Given the description of an element on the screen output the (x, y) to click on. 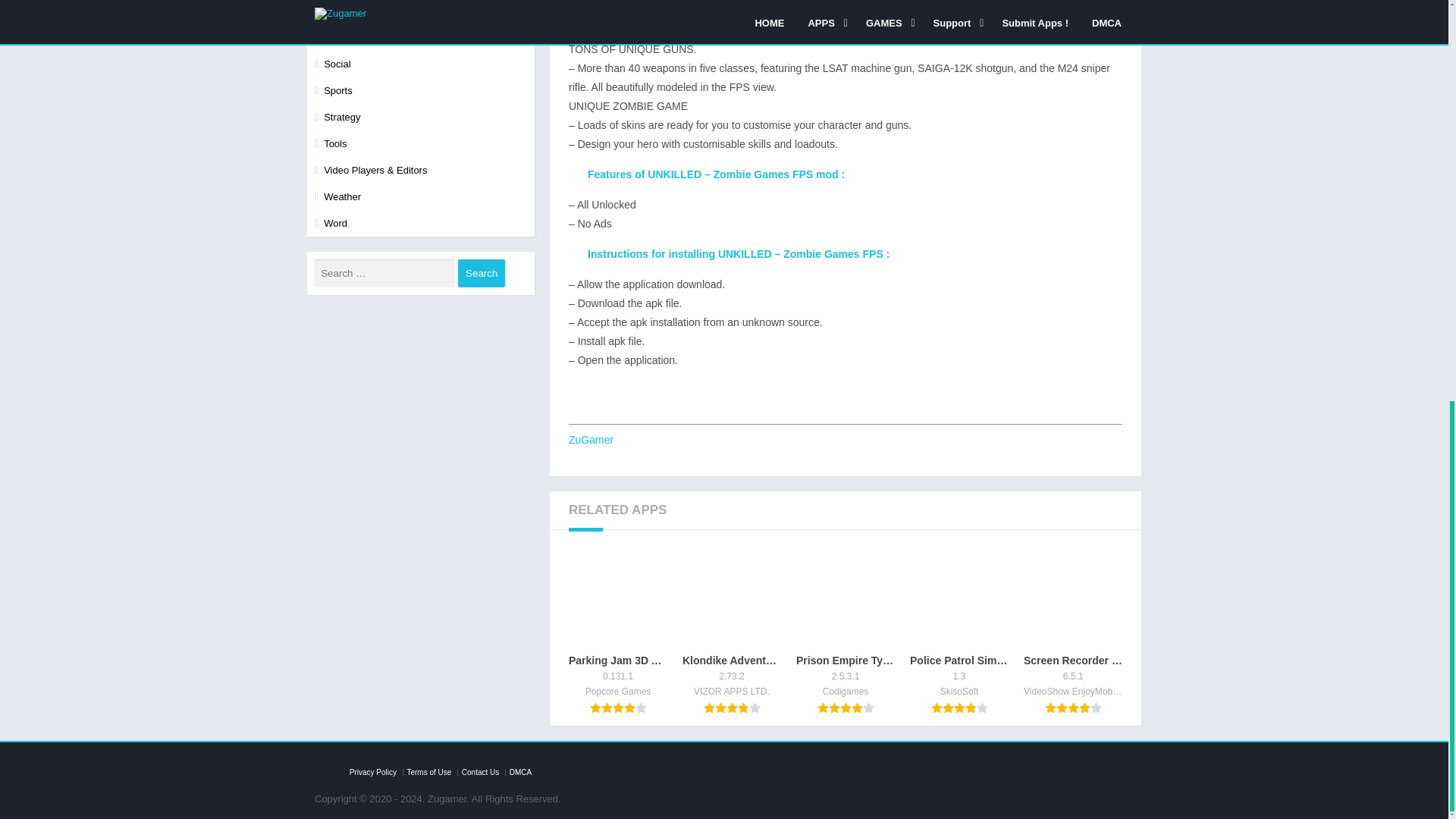
Search (481, 273)
Search (481, 273)
